Given the description of an element on the screen output the (x, y) to click on. 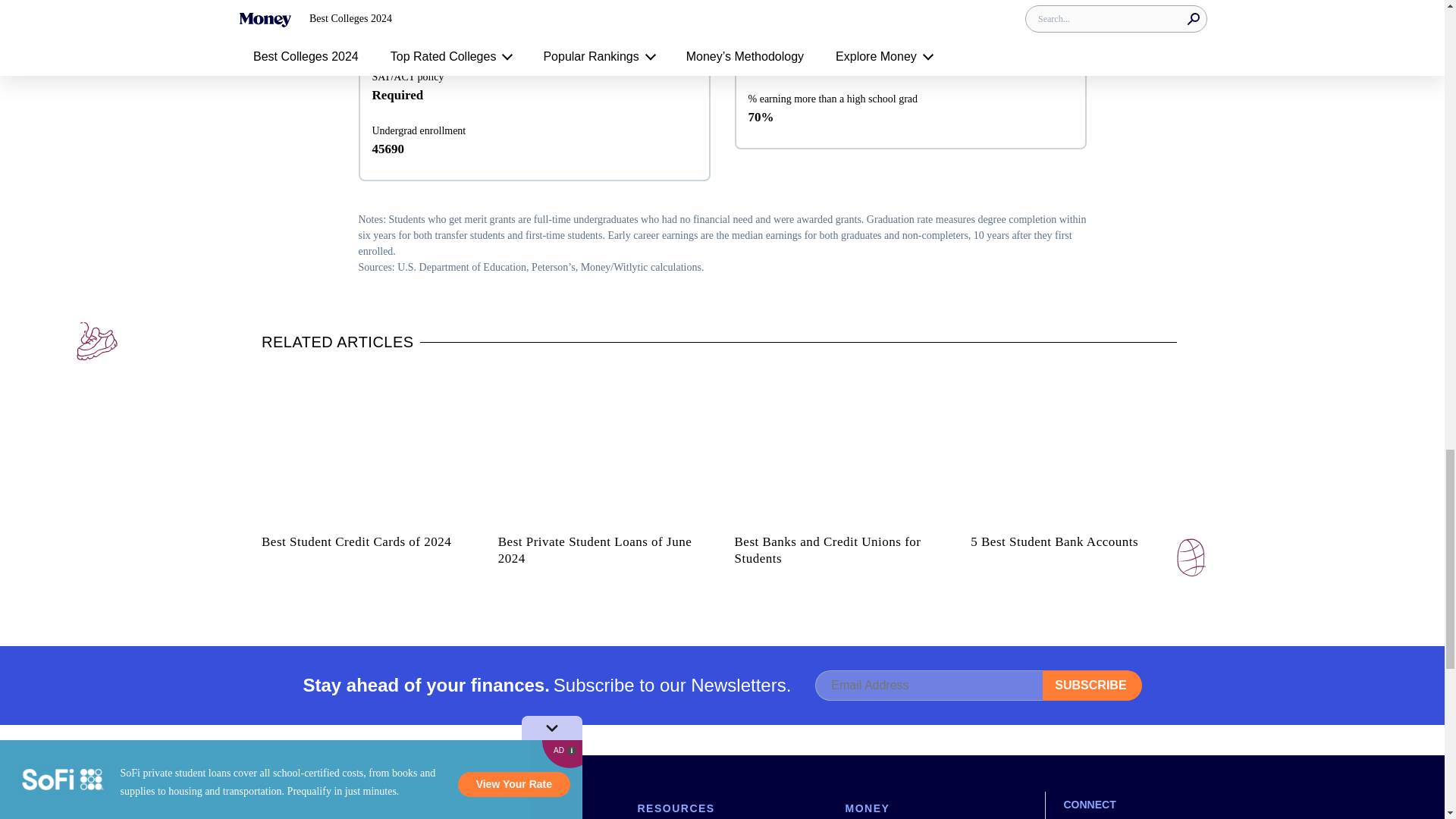
5 Best Student Bank Accounts (1076, 444)
Best Private Student Loans of June 2024 (603, 444)
Best Student Credit Cards of 2024 (367, 444)
Subscribe (1091, 685)
Best Banks and Credit Unions for Students (840, 444)
